Given the description of an element on the screen output the (x, y) to click on. 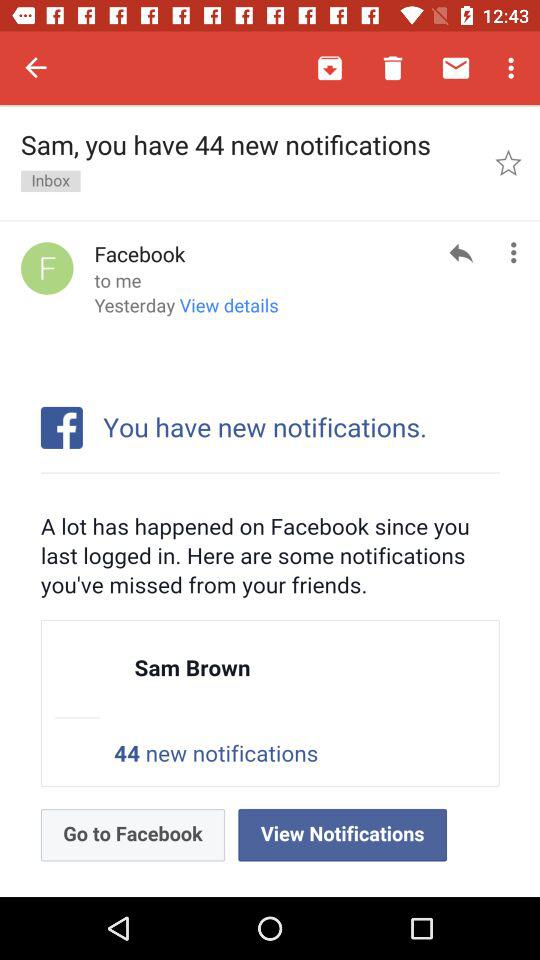
click the yesterday view details item (186, 312)
